Given the description of an element on the screen output the (x, y) to click on. 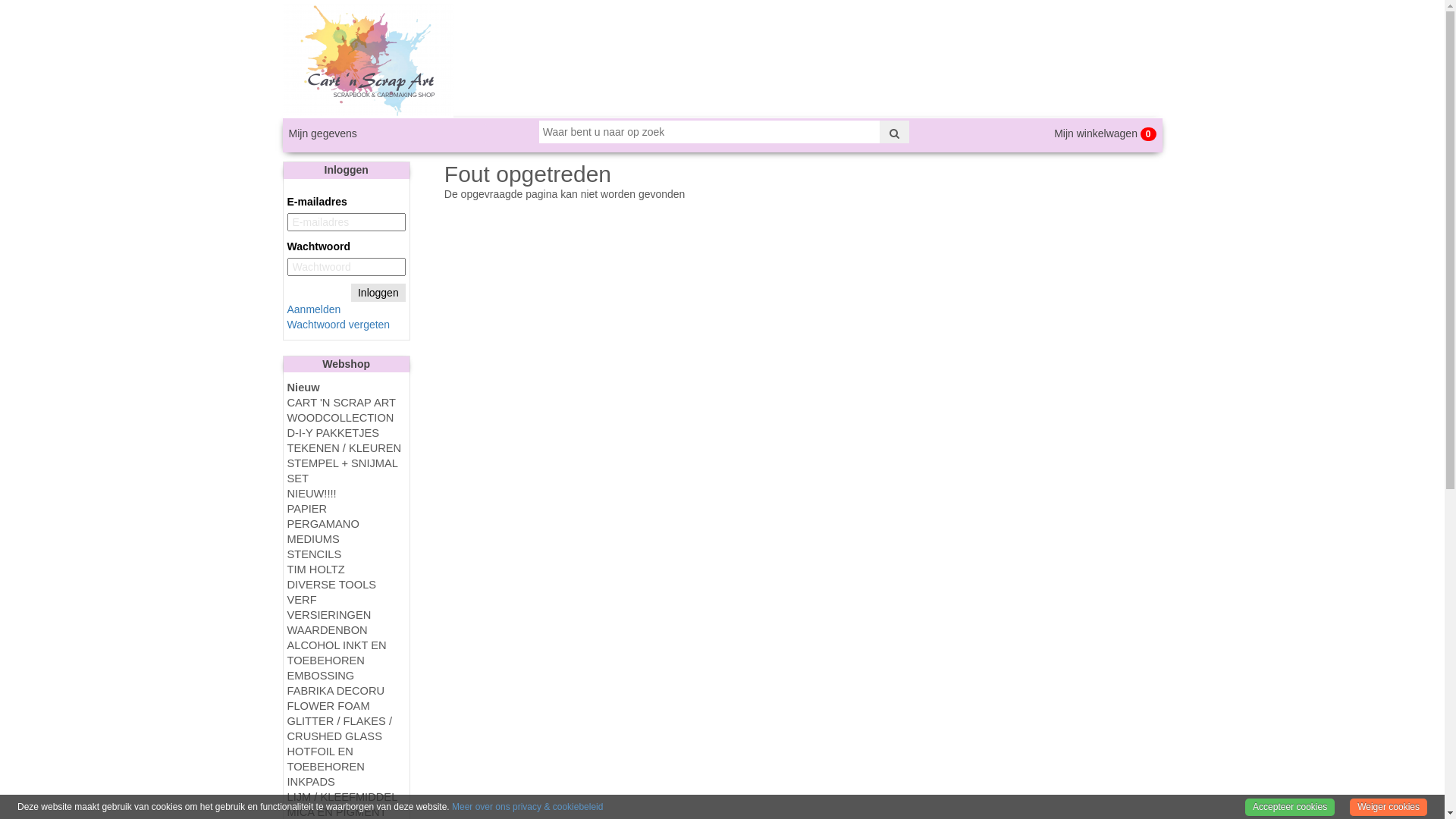
Nieuw Element type: text (345, 387)
D-I-Y PAKKETJES Element type: text (345, 432)
CART 'N SCRAP ART WOODCOLLECTION Element type: text (345, 410)
HOTFOIL EN TOEBEHOREN Element type: text (345, 758)
PERGAMANO Element type: text (345, 523)
INKPADS Element type: text (345, 781)
VERSIERINGEN Element type: text (345, 614)
ALCOHOL INKT EN TOEBEHOREN Element type: text (345, 652)
DIVERSE TOOLS Element type: text (345, 584)
Mijn gegevens Element type: text (322, 133)
FABRIKA DECORU Element type: text (345, 690)
EMBOSSING Element type: text (345, 675)
Inloggen Element type: text (378, 292)
Mijn winkelwagen 0 Element type: text (1104, 133)
TIM HOLTZ Element type: text (345, 569)
LIJM / KLEEFMIDDEL Element type: text (345, 796)
TEKENEN / KLEUREN Element type: text (345, 447)
STEMPEL + SNIJMAL SET Element type: text (345, 470)
NIEUW!!!! Element type: text (345, 493)
WAARDENBON Element type: text (345, 629)
Meer over ons privacy & cookiebeleid Element type: text (526, 806)
Weiger cookies Element type: text (1388, 807)
Wachtwoord vergeten Element type: text (337, 324)
GLITTER / FLAKES / CRUSHED GLASS Element type: text (345, 728)
FLOWER FOAM Element type: text (345, 705)
MEDIUMS Element type: text (345, 538)
VERF Element type: text (345, 599)
Accepteer cookies Element type: text (1289, 807)
STENCILS Element type: text (345, 553)
PAPIER Element type: text (345, 508)
Aanmelden Element type: text (313, 309)
